Given the description of an element on the screen output the (x, y) to click on. 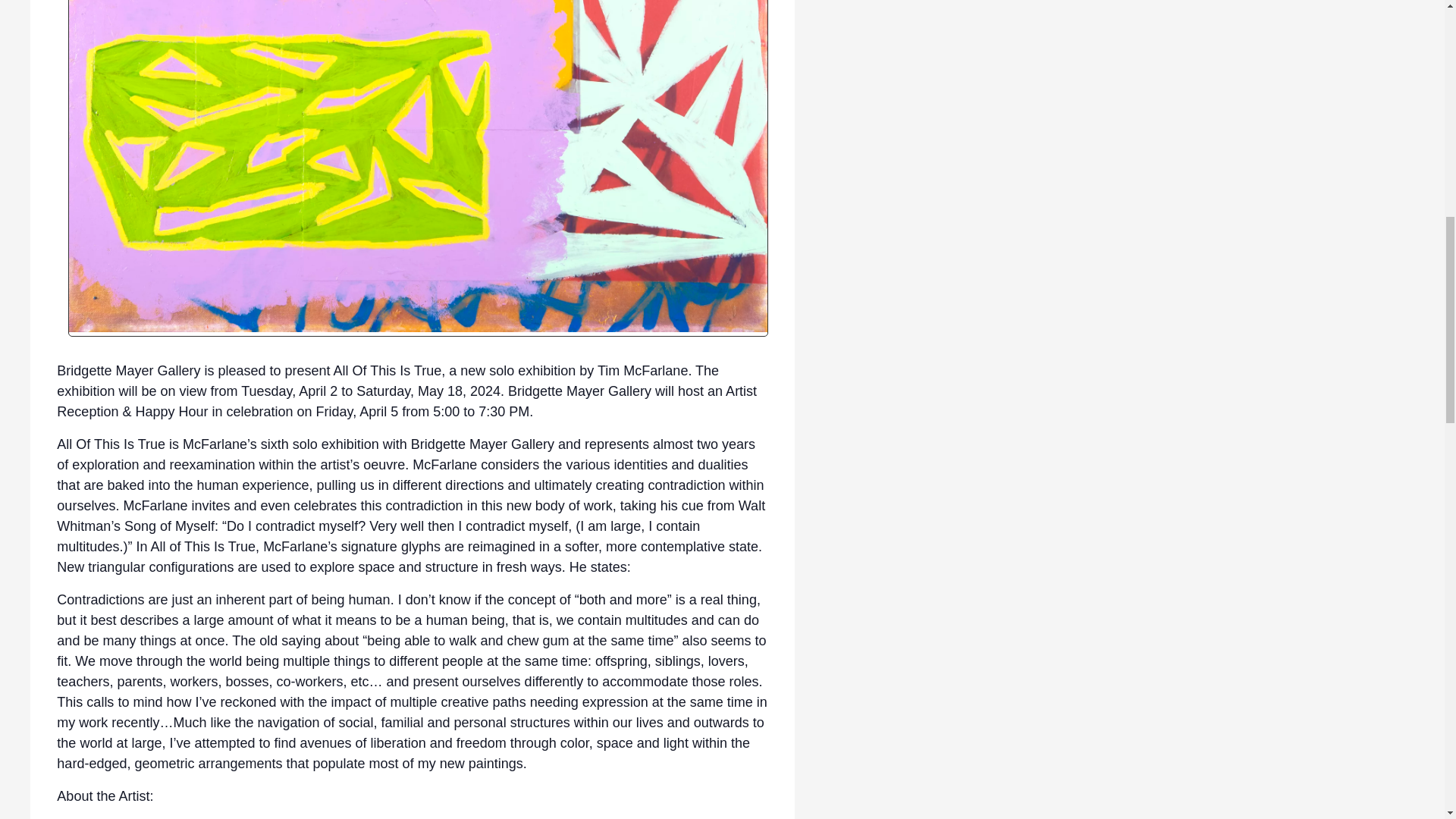
3rd party ad content (1120, 48)
